Given the description of an element on the screen output the (x, y) to click on. 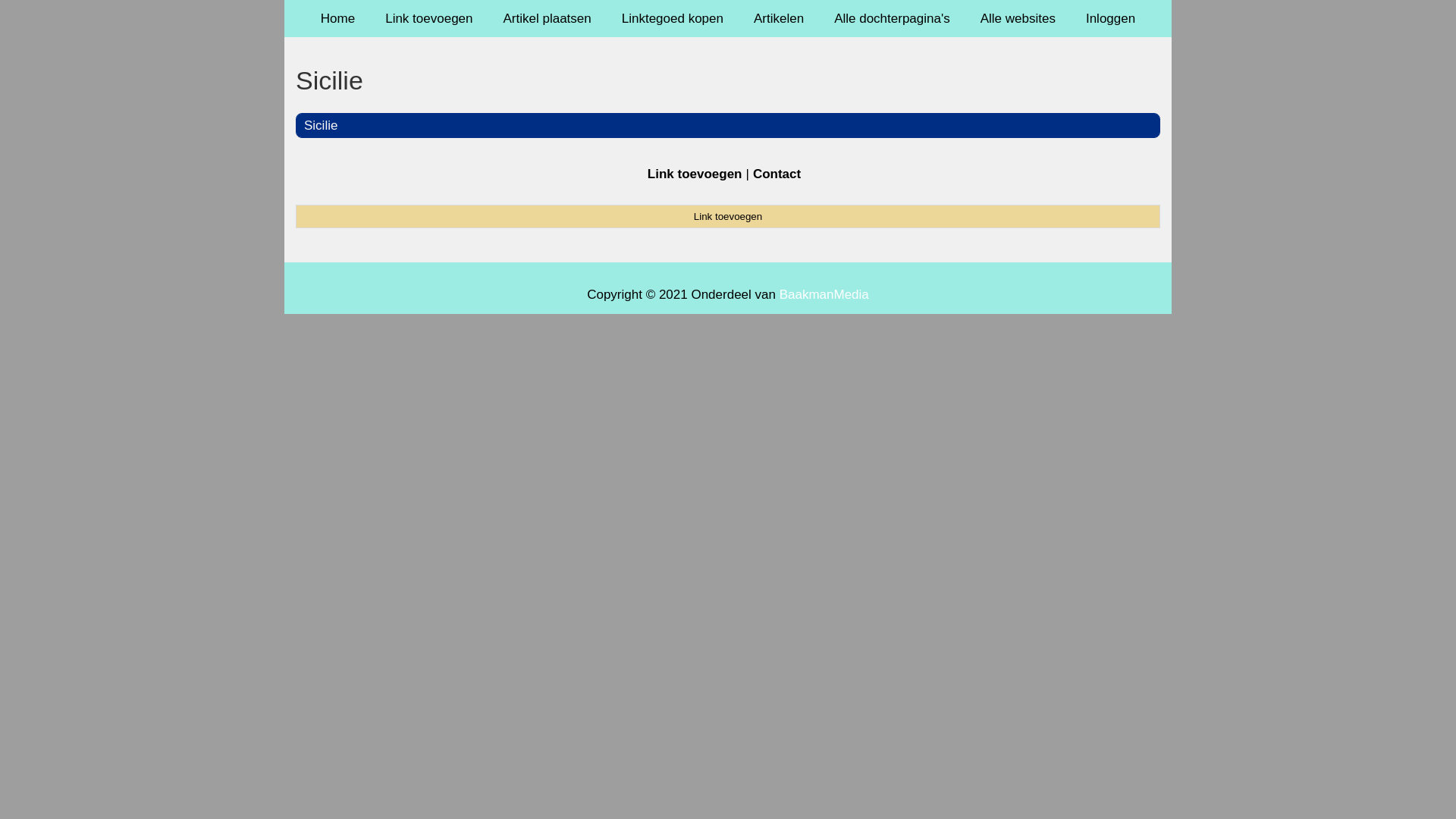
Sicilie Element type: text (320, 125)
Inloggen Element type: text (1110, 18)
Alle dochterpagina's Element type: text (892, 18)
Link toevoegen Element type: text (694, 173)
Alle websites Element type: text (1017, 18)
Contact Element type: text (776, 173)
BaakmanMedia Element type: text (824, 294)
Artikel plaatsen Element type: text (547, 18)
Link toevoegen Element type: text (428, 18)
Home Element type: text (337, 18)
Link toevoegen Element type: text (727, 215)
Sicilie Element type: text (727, 80)
Artikelen Element type: text (778, 18)
Linktegoed kopen Element type: text (672, 18)
